Given the description of an element on the screen output the (x, y) to click on. 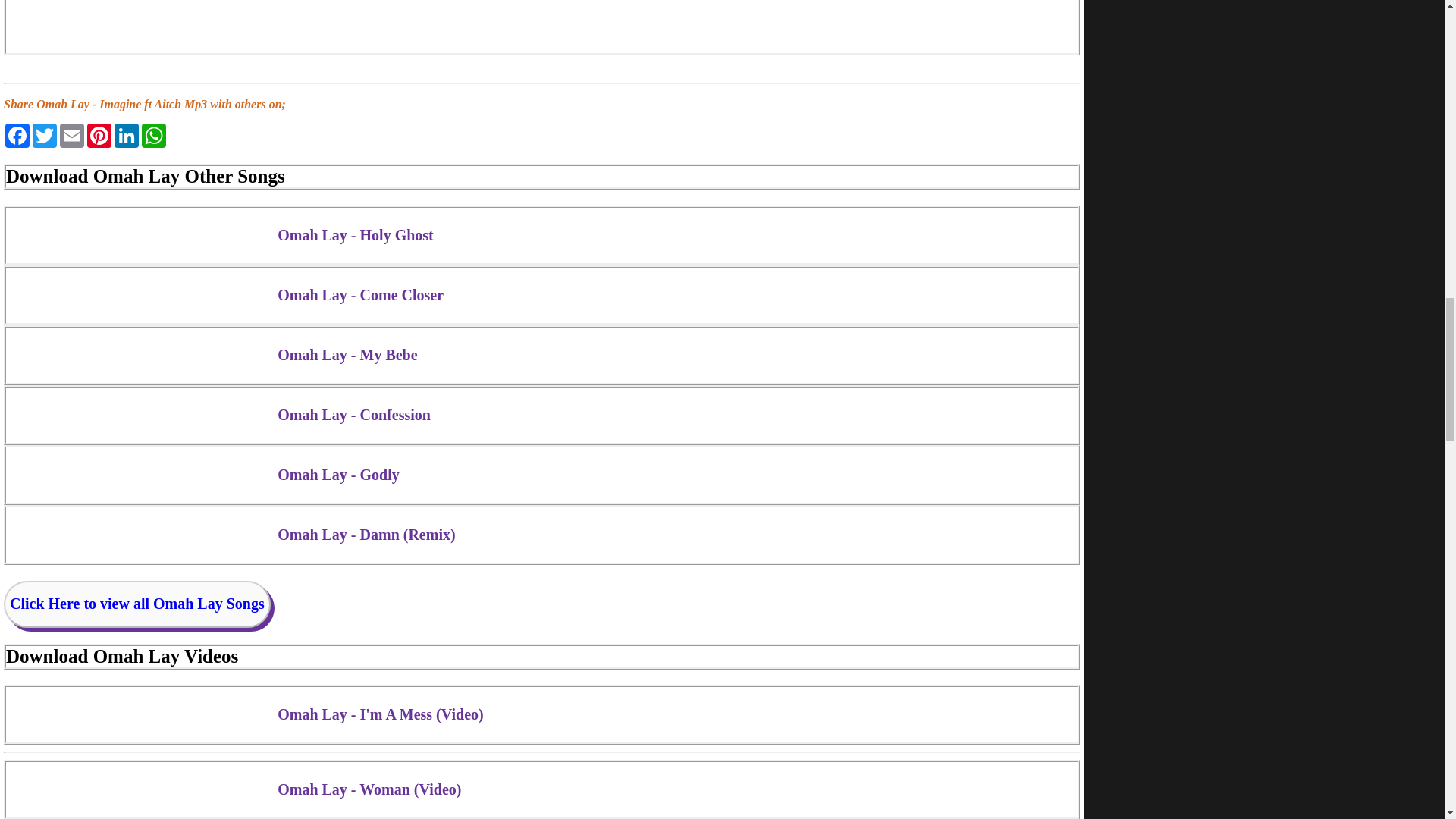
Email (71, 135)
Twitter (44, 135)
Facebook (17, 135)
Click Here to view all Omah Lay Songs (137, 604)
Pinterest (99, 135)
LinkedIn (126, 135)
Click Here to view all Omah Lay Songs (137, 603)
WhatsApp (153, 135)
